Given the description of an element on the screen output the (x, y) to click on. 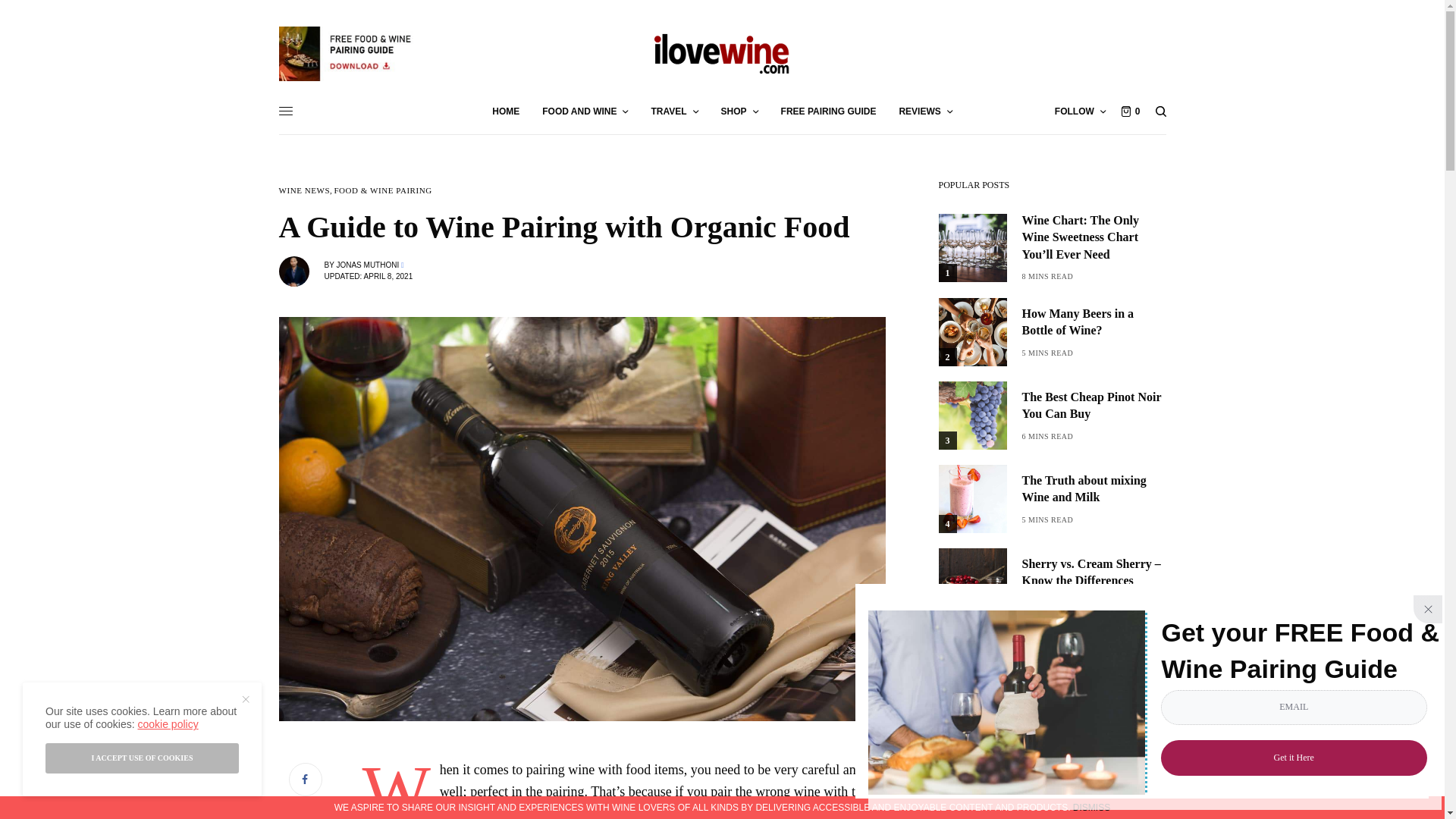
FOLLOW (1079, 111)
REVIEWS (925, 111)
I Love Wine (721, 53)
Posts by Jonas Muthoni (367, 265)
How Many Beers in a Bottle of Wine? (1094, 322)
WINE NEWS (304, 190)
FREE PAIRING GUIDE (828, 111)
The Truth about mixing Wine and Milk (1094, 489)
TRAVEL (673, 111)
The Best Cheap Pinot Noir You Can Buy (1094, 406)
FOOD AND WINE (584, 111)
